Given the description of an element on the screen output the (x, y) to click on. 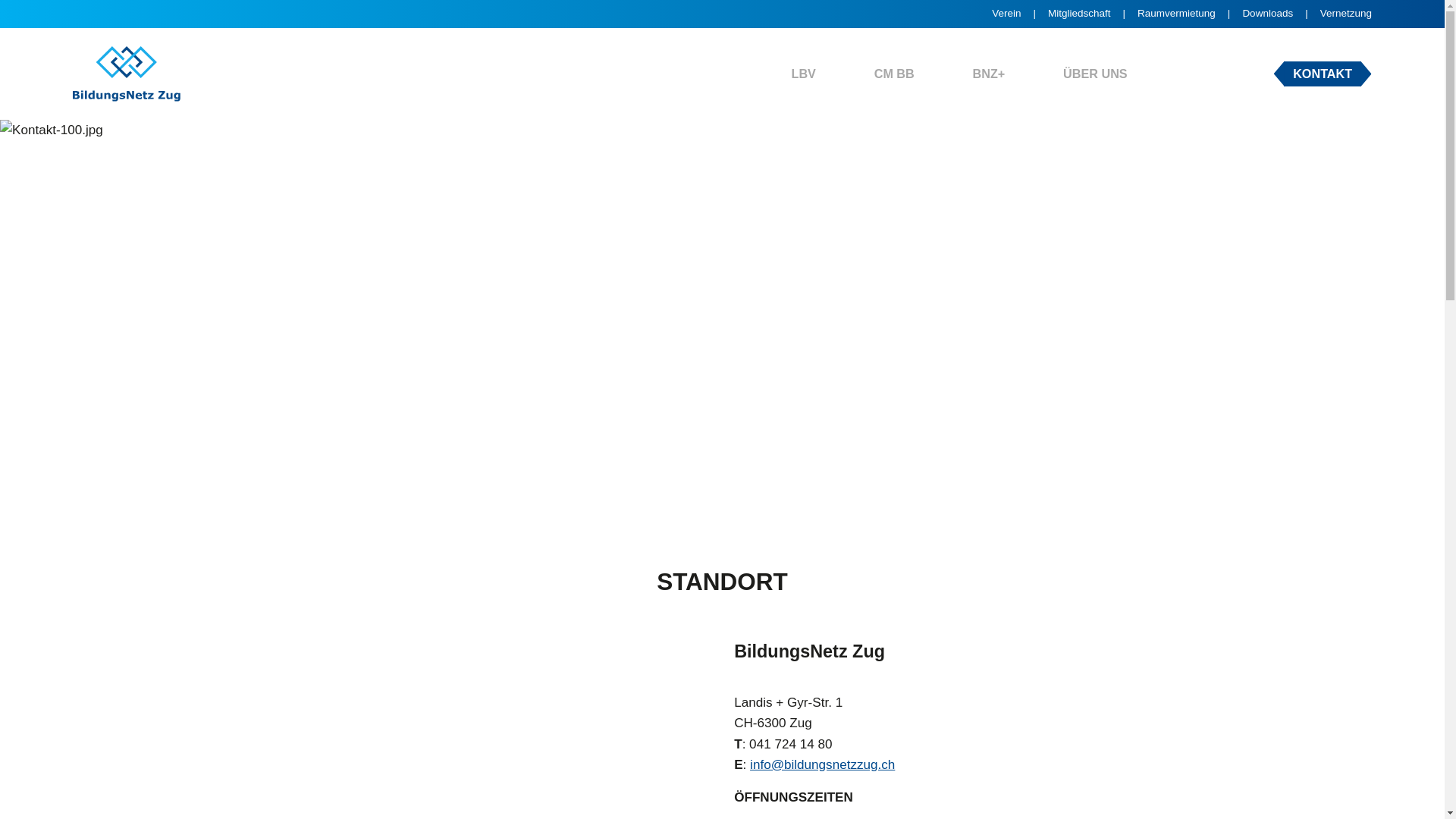
BNZ+ Element type: text (988, 73)
LBV Element type: text (803, 73)
SUCHEN Element type: text (1240, 73)
Mitgliedschaft Element type: text (1092, 12)
Raumvermietung Element type: text (1189, 12)
Downloads Element type: text (1280, 12)
KONTAKT Element type: text (1322, 73)
CM BB Element type: text (894, 73)
info@bildungsnetzzug.ch Element type: text (821, 764)
Verein Element type: text (1019, 12)
Vernetzung Element type: text (1345, 12)
